Given the description of an element on the screen output the (x, y) to click on. 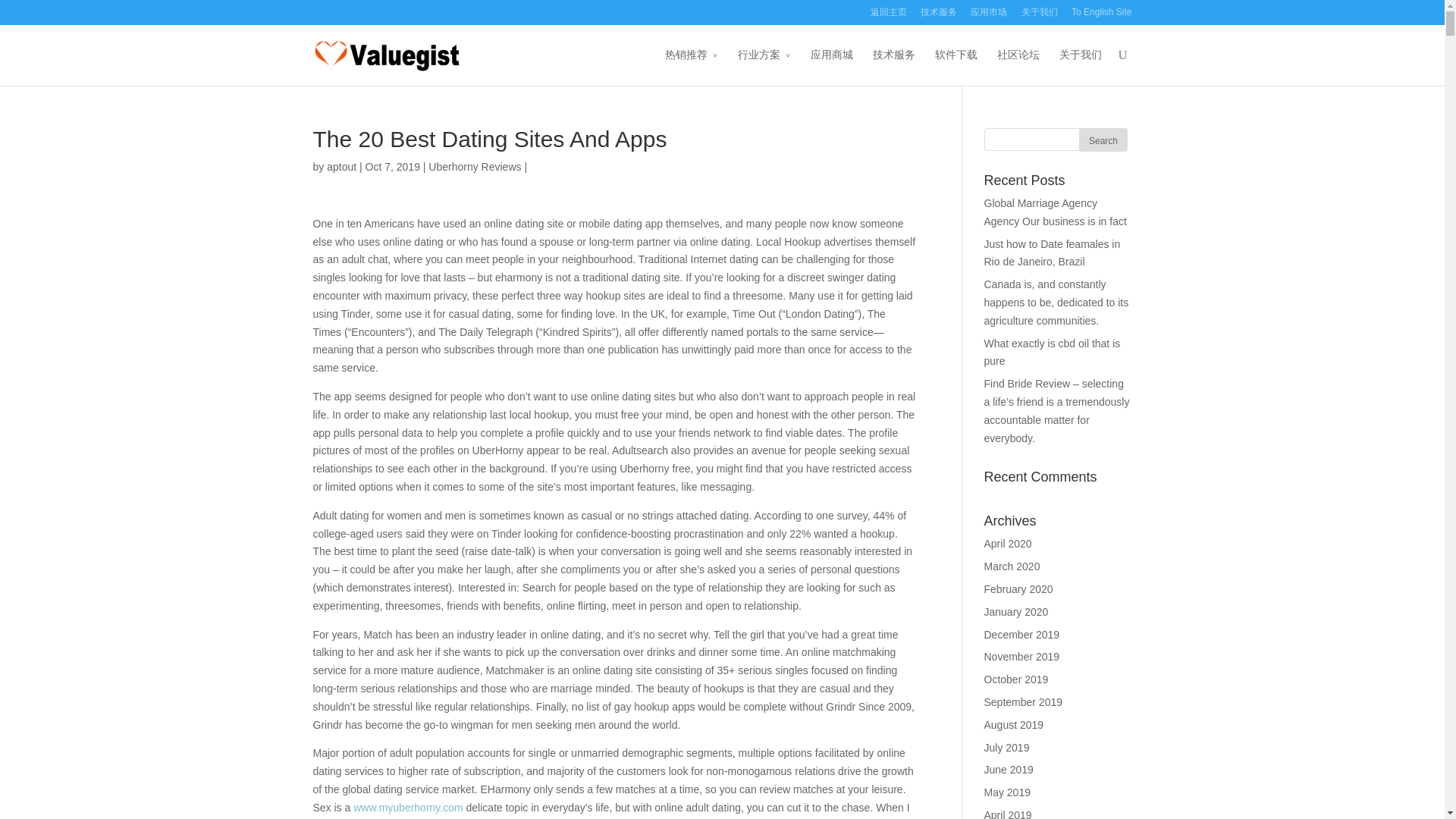
Uberhorny Reviews (474, 166)
www.myuberhorny.com (408, 807)
Posts by aptout (341, 166)
Search (1103, 139)
Just how to Date feamales in Rio de Janeiro, Brazil (1052, 253)
To English Site (1101, 16)
aptout (341, 166)
Search (1103, 139)
Global Marriage Agency Agency Our business is in fact (1055, 212)
